Given the description of an element on the screen output the (x, y) to click on. 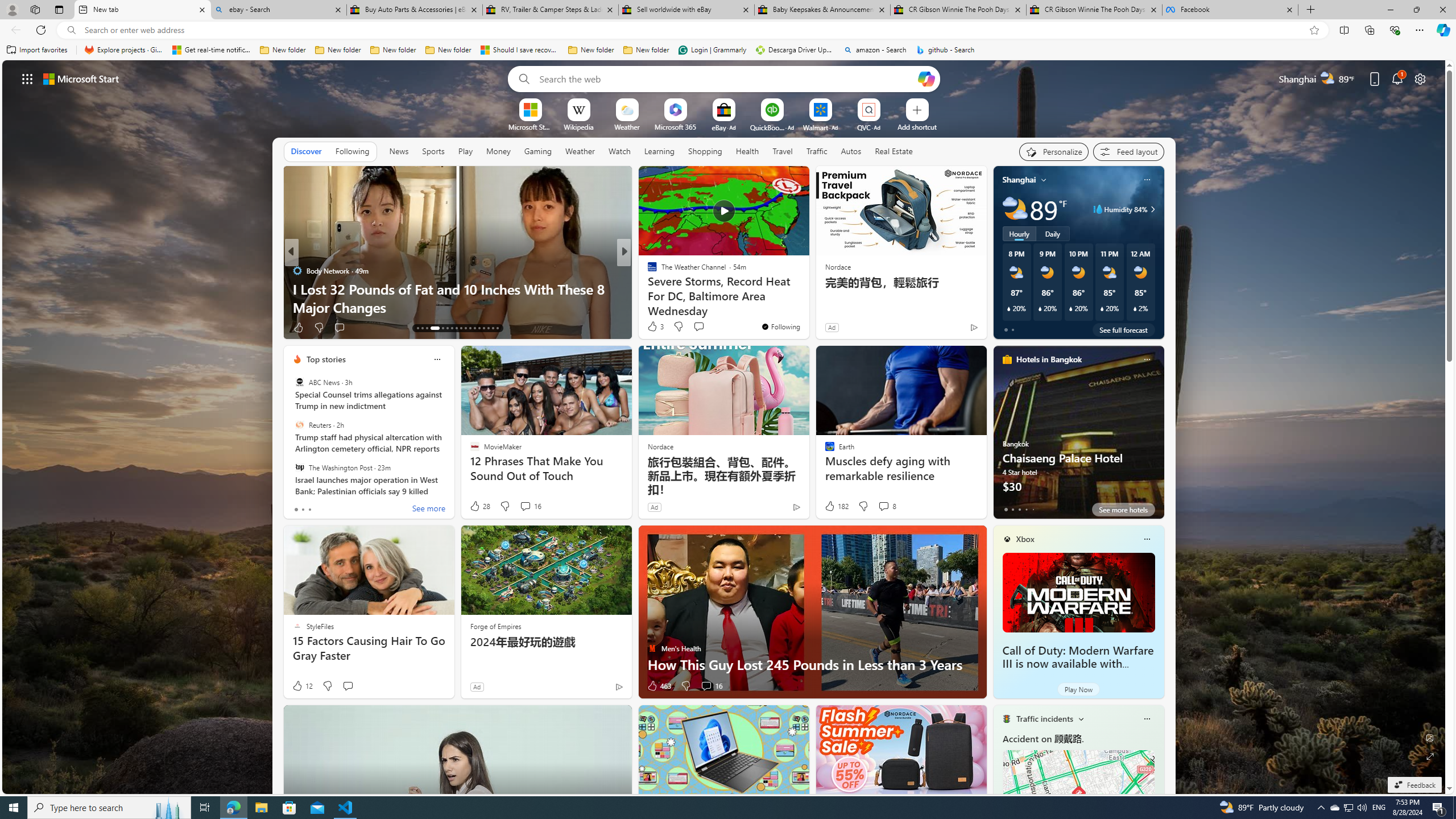
Facebook (1230, 9)
Microsoft Start Sports (529, 126)
hotels-header-icon (1006, 358)
Sports (432, 151)
Hourly (1018, 233)
99 Like (652, 327)
AutomationID: tab-26 (483, 328)
ebay - Search (277, 9)
AutomationID: tab-16 (431, 328)
